Given the description of an element on the screen output the (x, y) to click on. 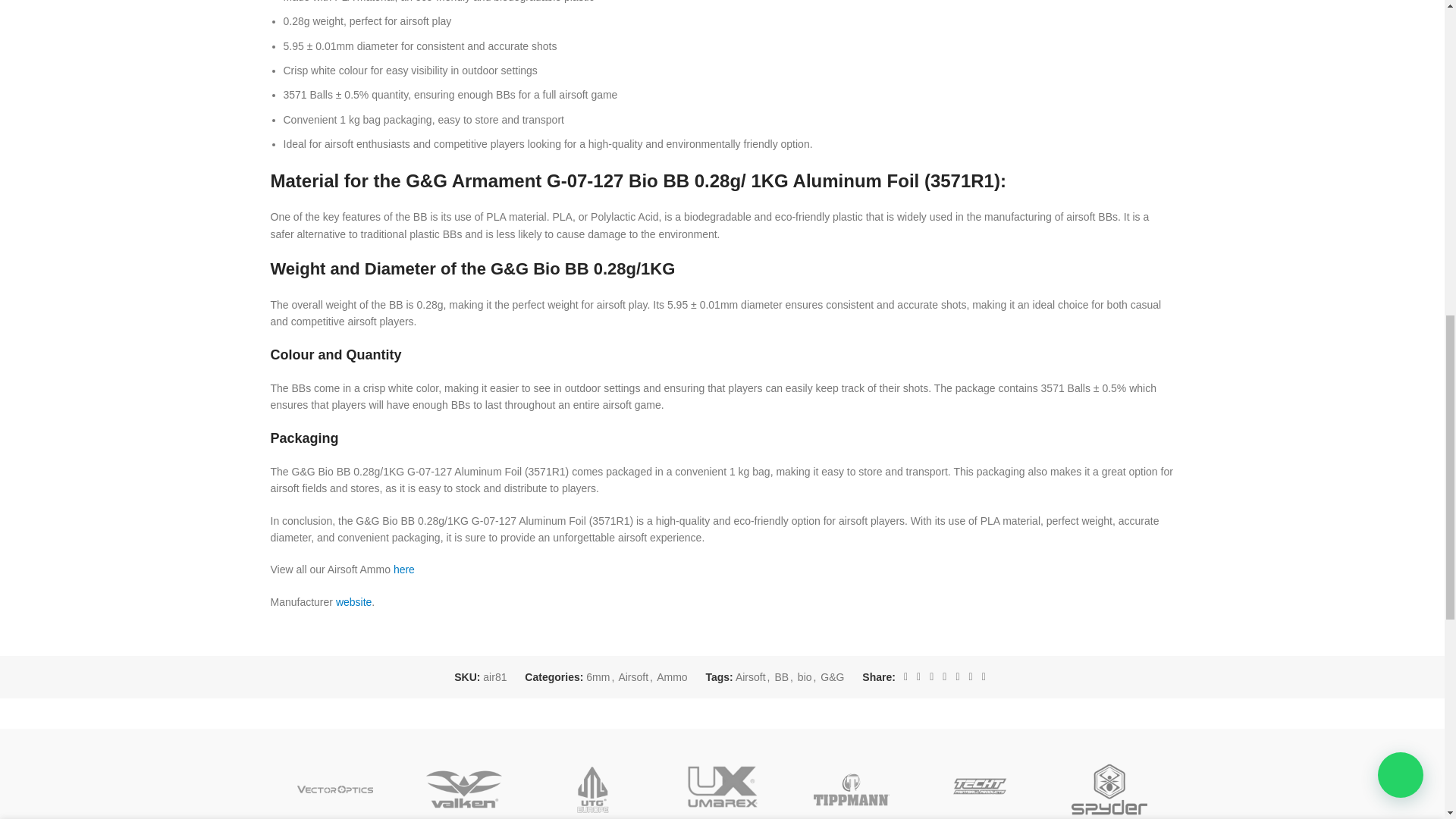
UTG (593, 777)
Vector Optics (333, 777)
Valken (463, 777)
